Given the description of an element on the screen output the (x, y) to click on. 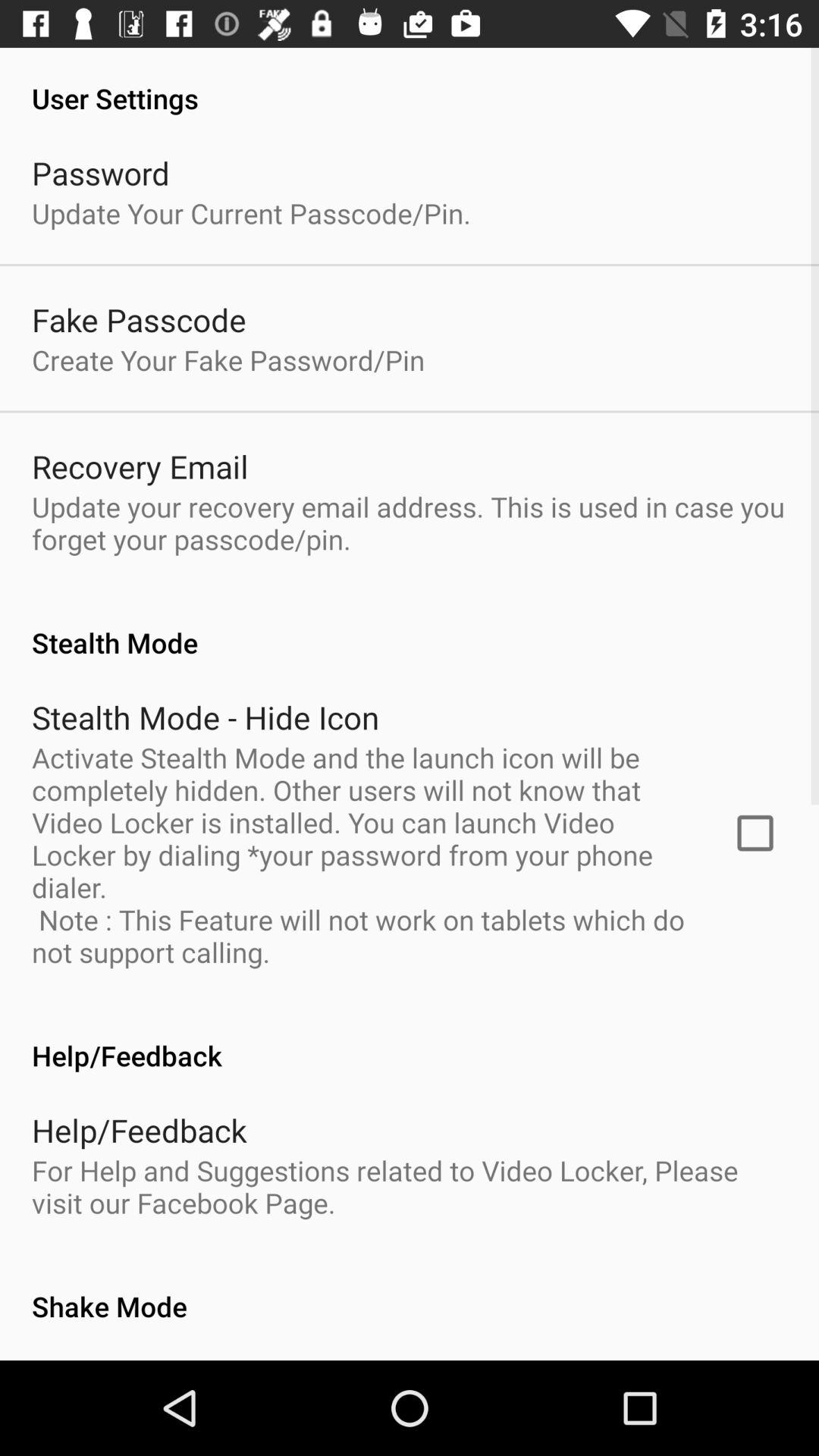
flip until the create your fake (227, 359)
